Given the description of an element on the screen output the (x, y) to click on. 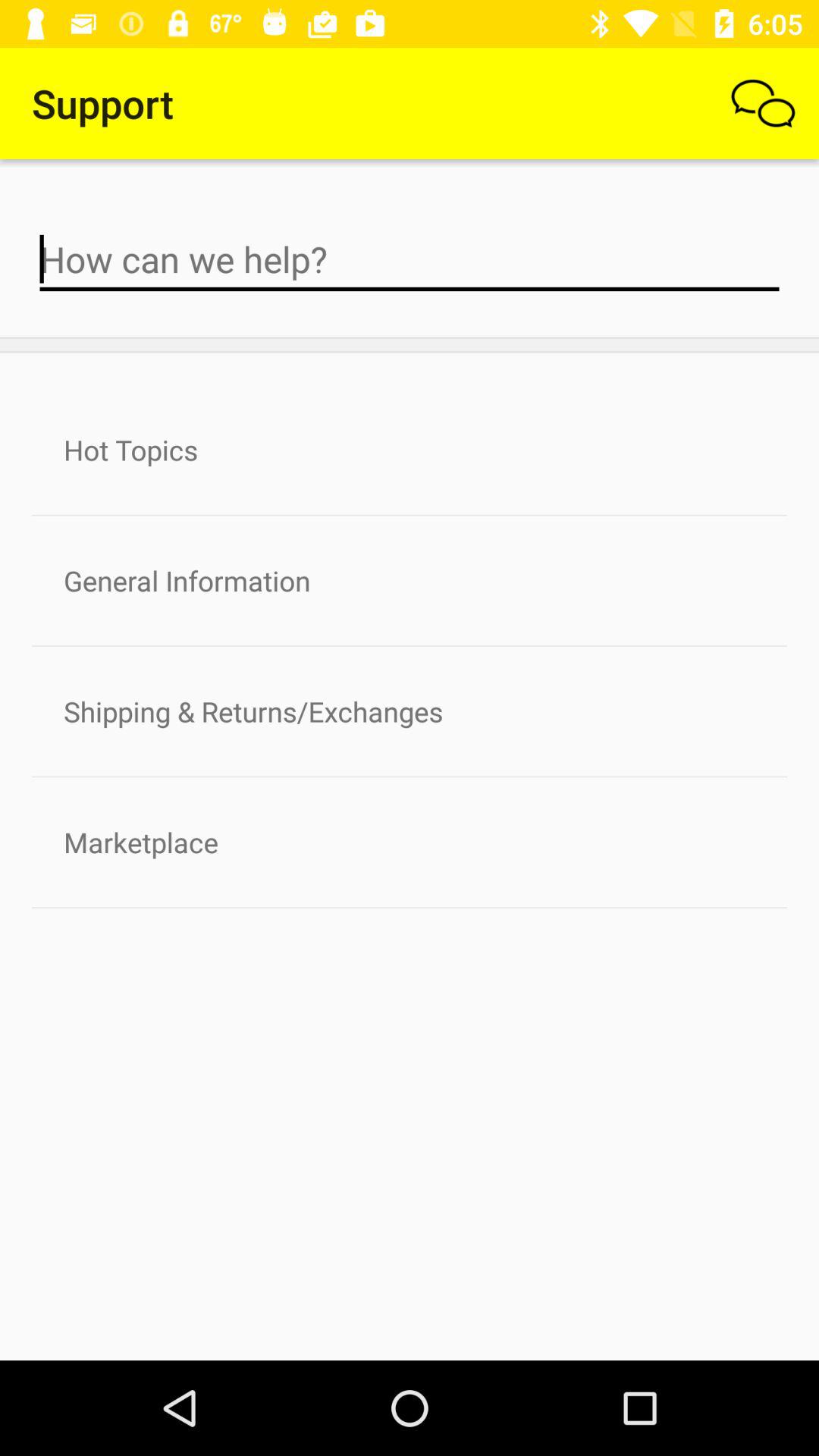
open the icon above general information icon (409, 449)
